Given the description of an element on the screen output the (x, y) to click on. 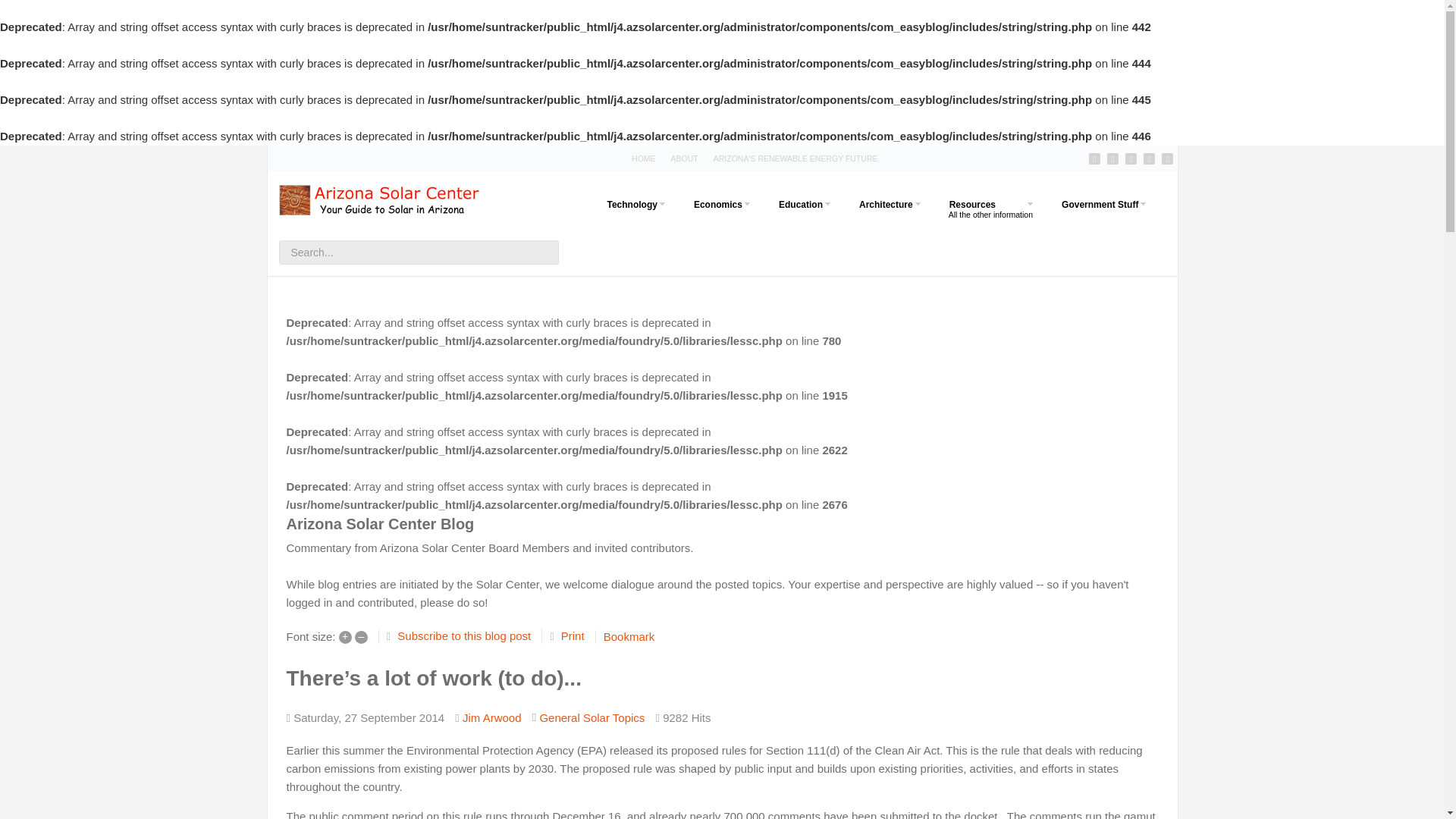
ARIZONA'S RENEWABLE ENERGY FUTURE (801, 209)
ABOUT (795, 158)
HOME (886, 209)
Print (684, 158)
